Given the description of an element on the screen output the (x, y) to click on. 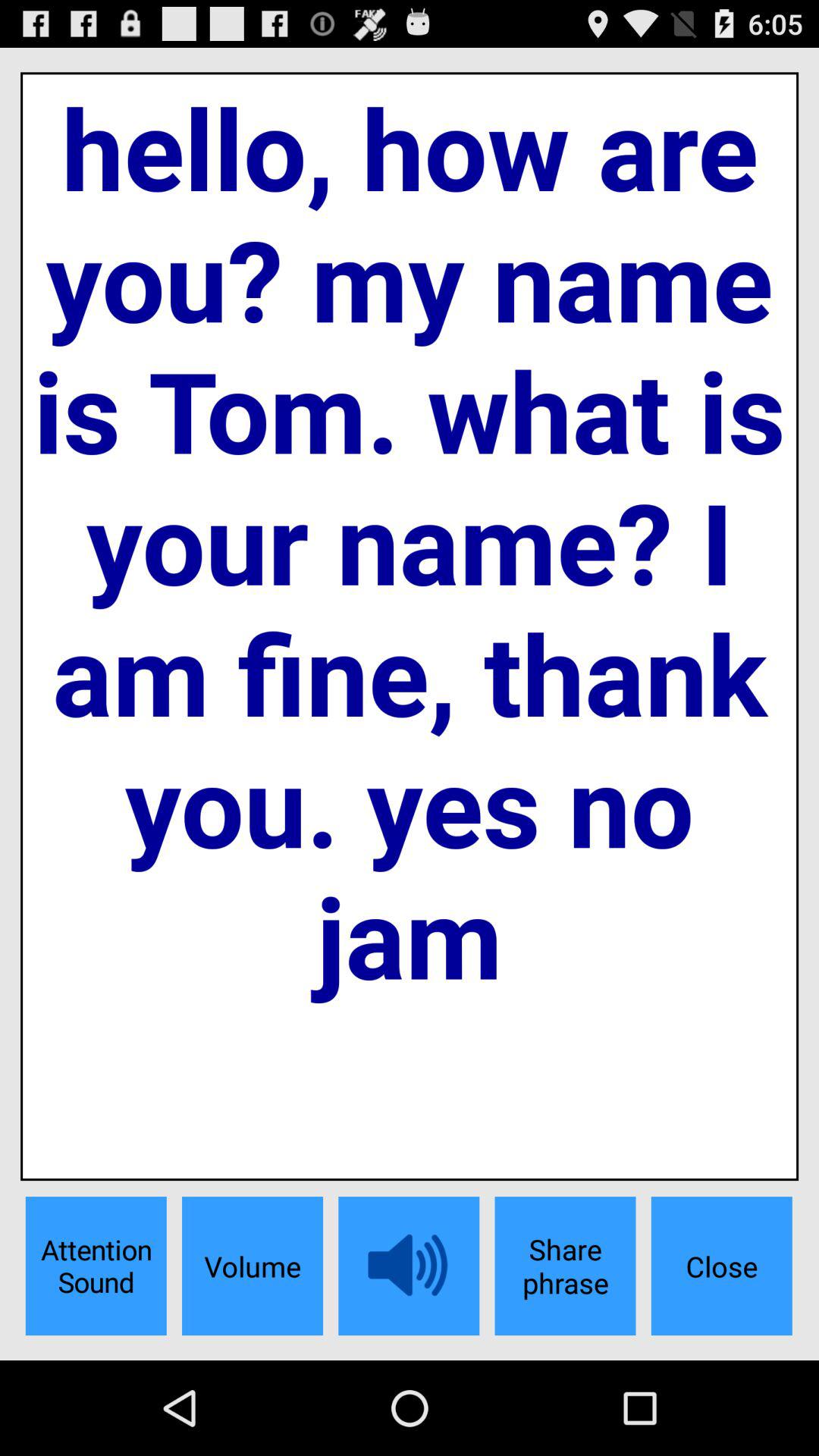
click item next to the volume icon (95, 1265)
